Given the description of an element on the screen output the (x, y) to click on. 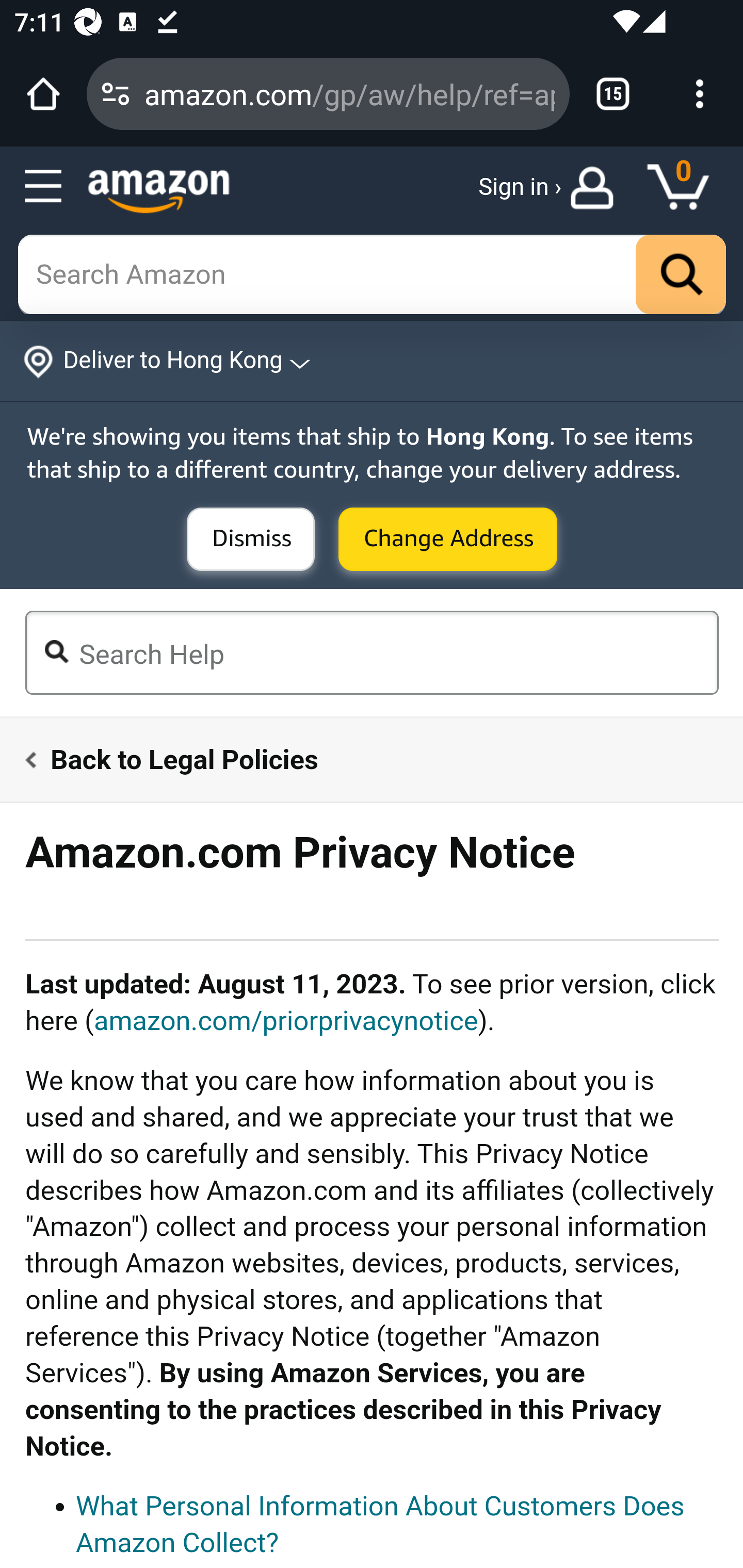
Open the home page (43, 93)
Connection is secure (115, 93)
Switch or close tabs (612, 93)
Customize and control Google Chrome (699, 93)
Open Menu (44, 187)
Sign in › (520, 188)
your account (596, 188)
Cart 0 (687, 188)
Amazon (158, 191)
Go (681, 275)
Submit (250, 539)
Submit (447, 539)
Back to Legal Policies (359, 758)
amazon.com/priorprivacynotice (285, 1020)
